Given the description of an element on the screen output the (x, y) to click on. 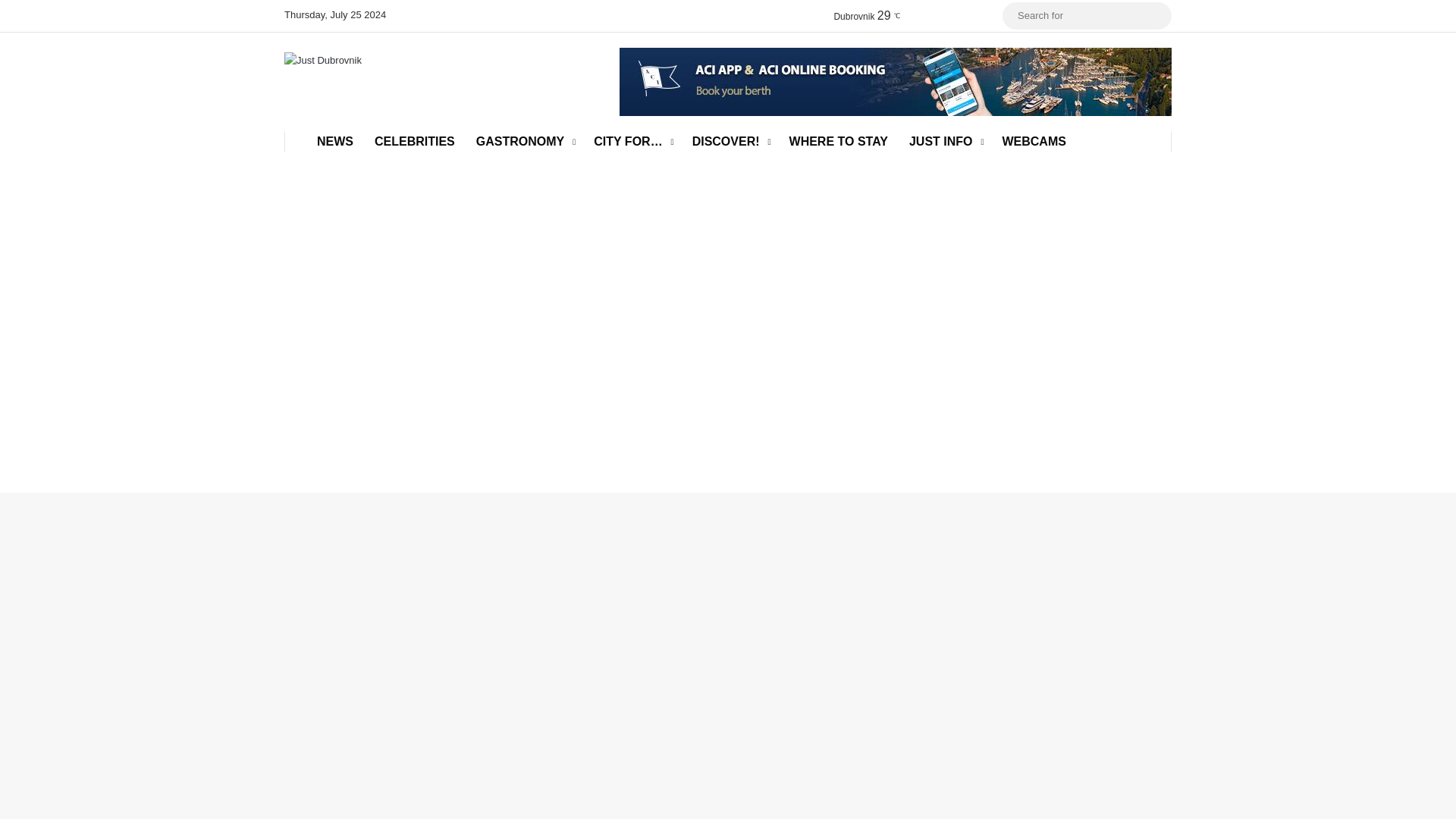
GASTRONOMY (524, 141)
Instagram (945, 15)
Just Dubrovnik (322, 59)
WHERE TO STAY (838, 141)
CELEBRITIES (414, 141)
JUST INFO (944, 141)
NEWS (334, 141)
DISCOVER! (729, 141)
Search for (1087, 15)
Facebook (922, 15)
Scattered Clouds (869, 15)
Search for (1156, 15)
